Given the description of an element on the screen output the (x, y) to click on. 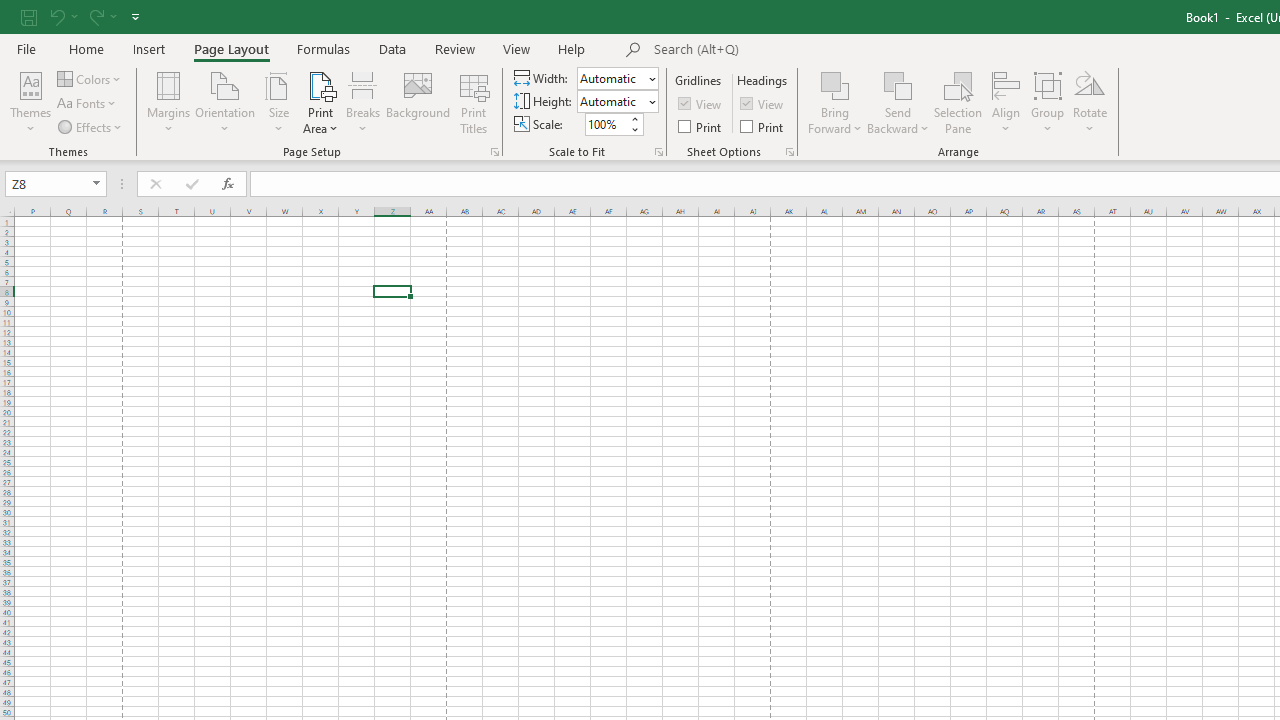
Orientation (225, 102)
Print Titles (474, 102)
Width (611, 78)
Group (1047, 102)
Rotate (1089, 102)
Themes (30, 102)
Page Setup (658, 151)
